Given the description of an element on the screen output the (x, y) to click on. 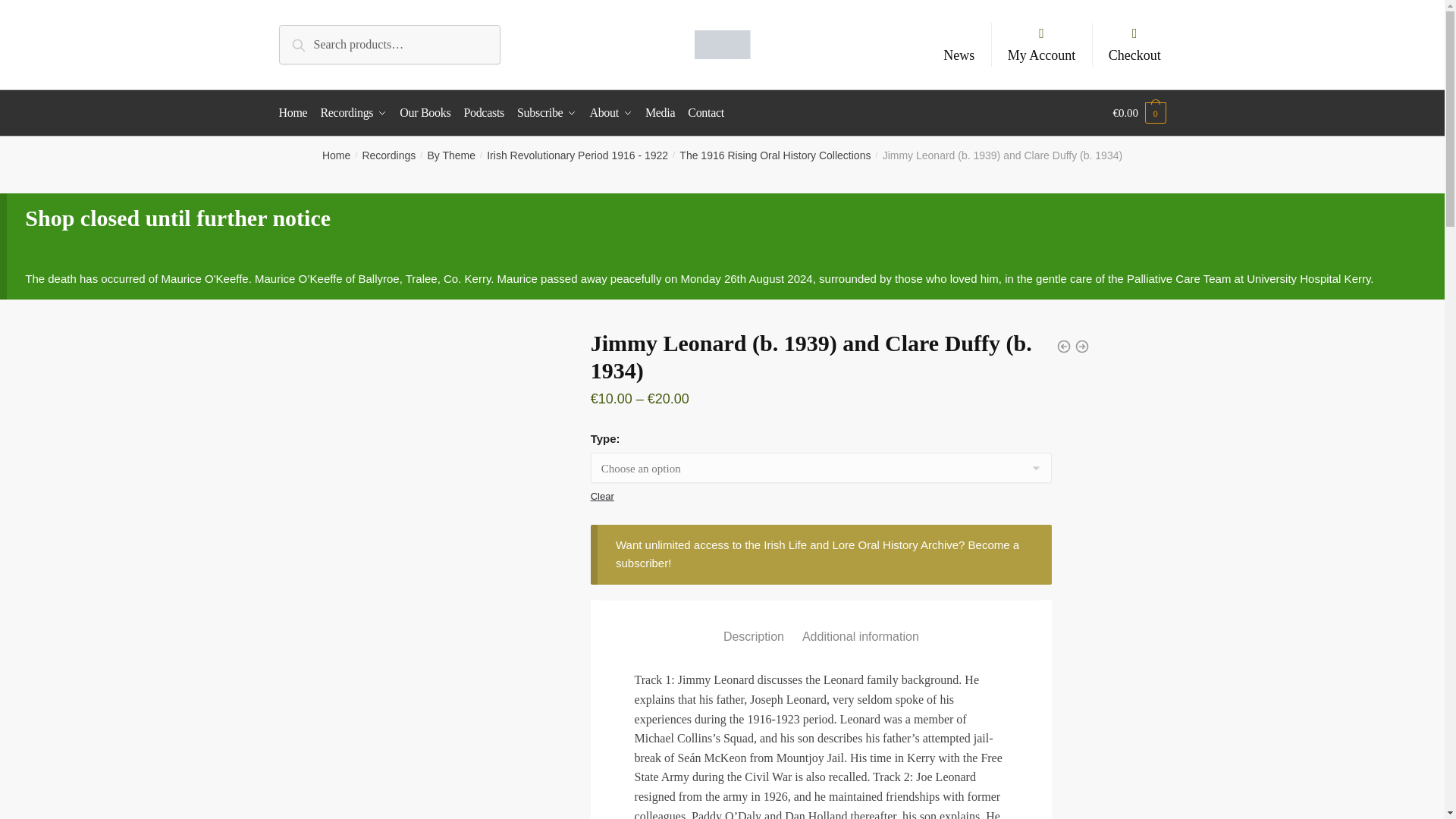
News (959, 55)
Subscribe (546, 112)
By Theme (451, 155)
About (611, 112)
Our Books (425, 112)
Podcasts (484, 112)
Recordings (353, 112)
Checkout (1134, 44)
The 1916 Rising Oral History Collections (774, 155)
Contact (705, 112)
